Given the description of an element on the screen output the (x, y) to click on. 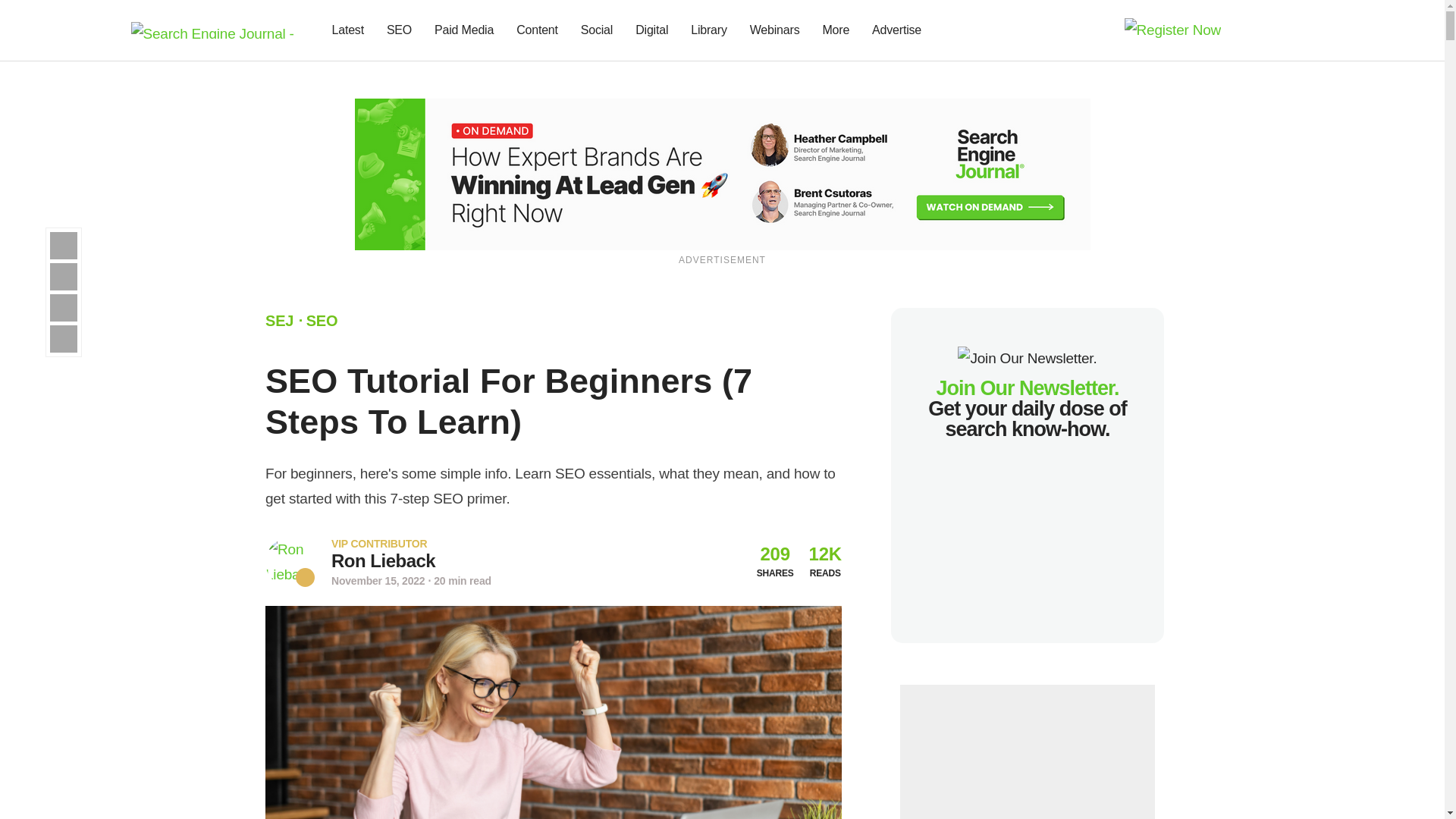
Latest (347, 30)
Go to Author Page (289, 562)
Register Now (1172, 28)
Go to Author Page (383, 560)
Register Now (722, 172)
Paid Media (464, 30)
Subscribe to our Newsletter (1277, 30)
